Given the description of an element on the screen output the (x, y) to click on. 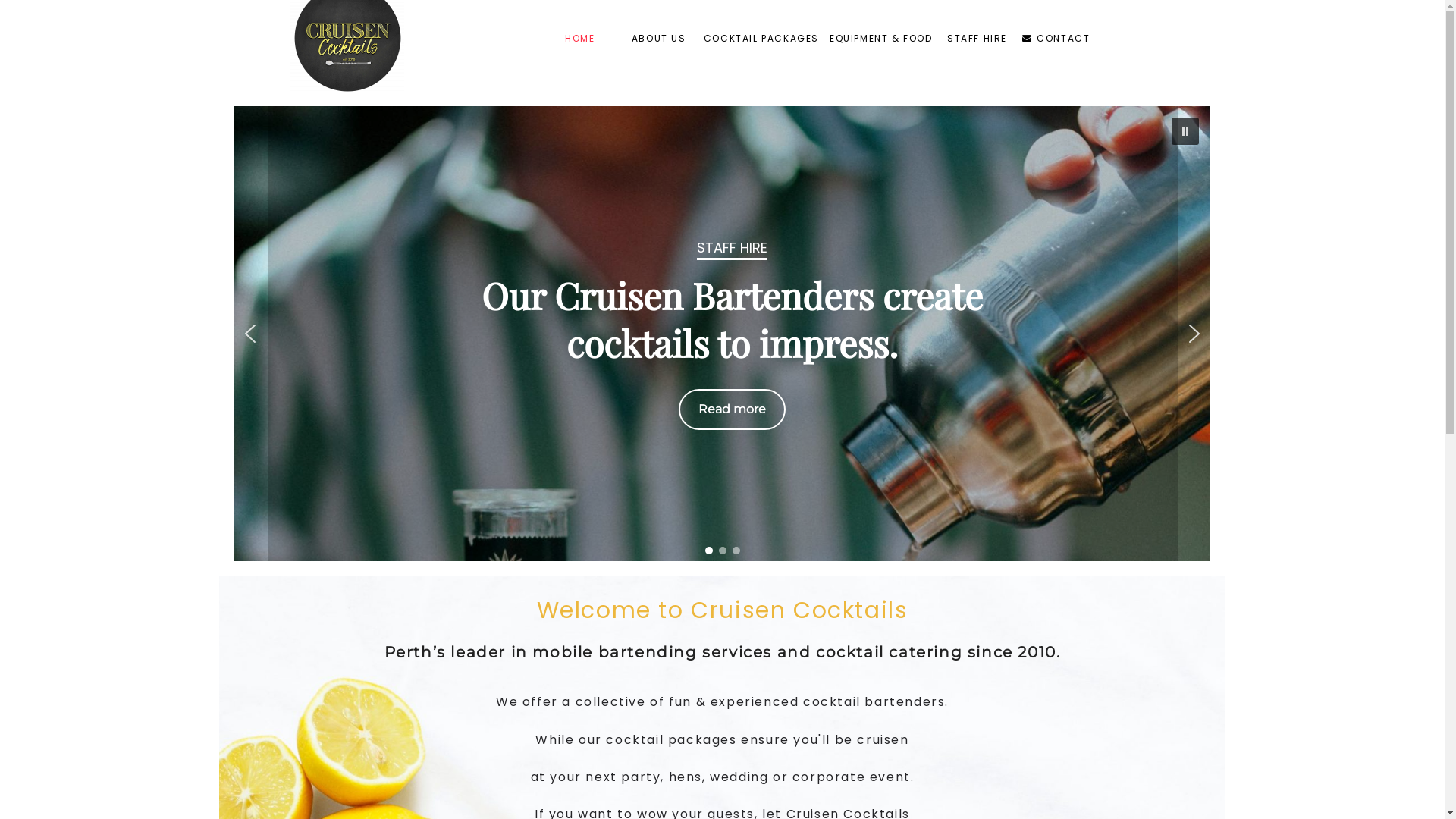
CONTACT Element type: text (1055, 40)
HOME Element type: text (580, 40)
STAFF HIRE Element type: text (977, 40)
ABOUT US Element type: text (658, 40)
Read more Element type: text (730, 409)
COCKTAIL PACKAGES Element type: text (760, 40)
EQUIPMENT & FOOD Element type: text (880, 40)
